Given the description of an element on the screen output the (x, y) to click on. 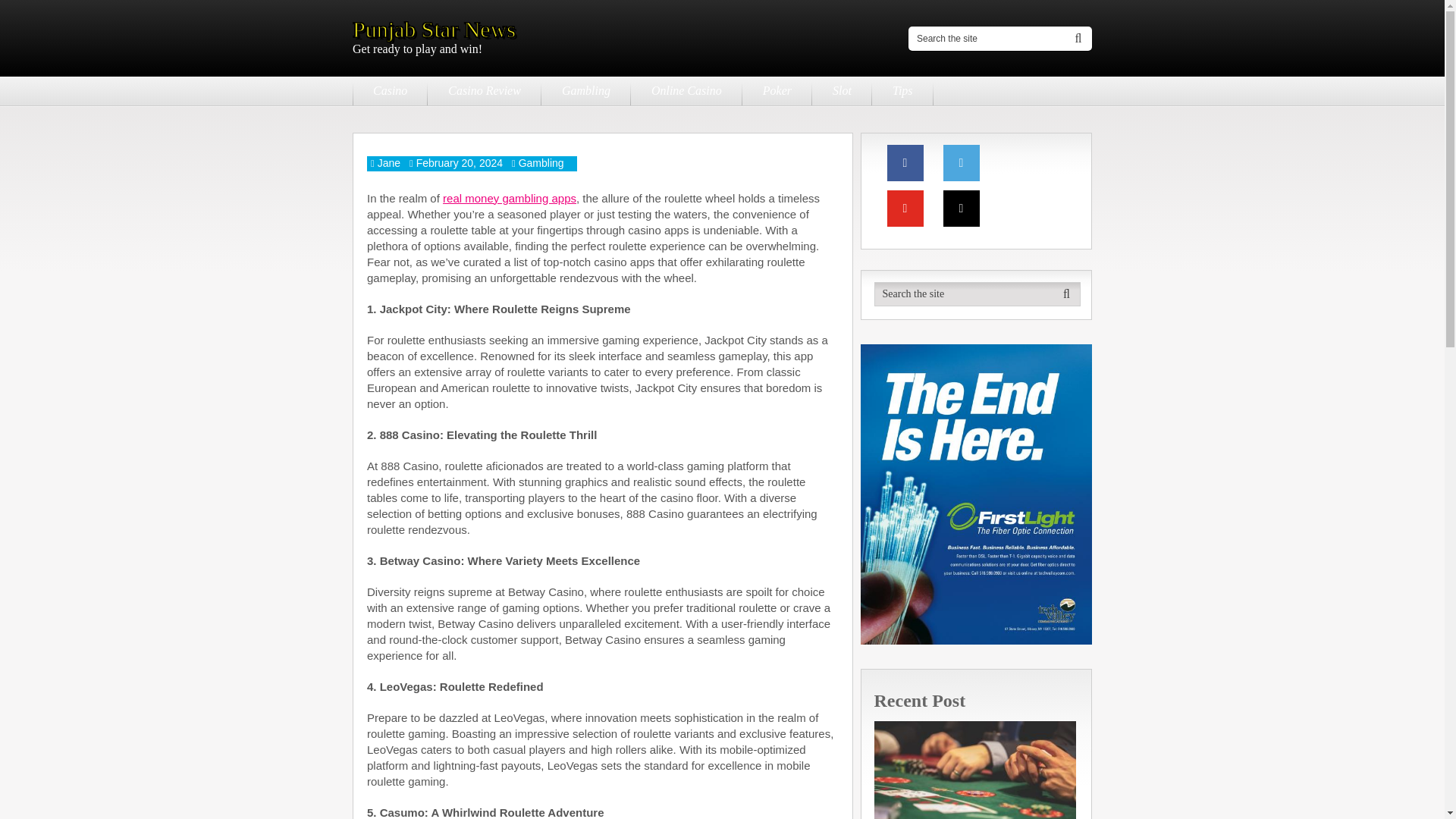
Instagram (961, 208)
Tips (902, 90)
twitter (961, 162)
youtube (904, 208)
YouTube (904, 208)
Casino Review (484, 90)
Twitter (961, 162)
Punjab Star News (433, 29)
Gambling (541, 162)
Posts by Jane (388, 162)
View all posts in Gambling (541, 162)
Slot (842, 90)
Poker (777, 90)
Online Casino (686, 90)
